Given the description of an element on the screen output the (x, y) to click on. 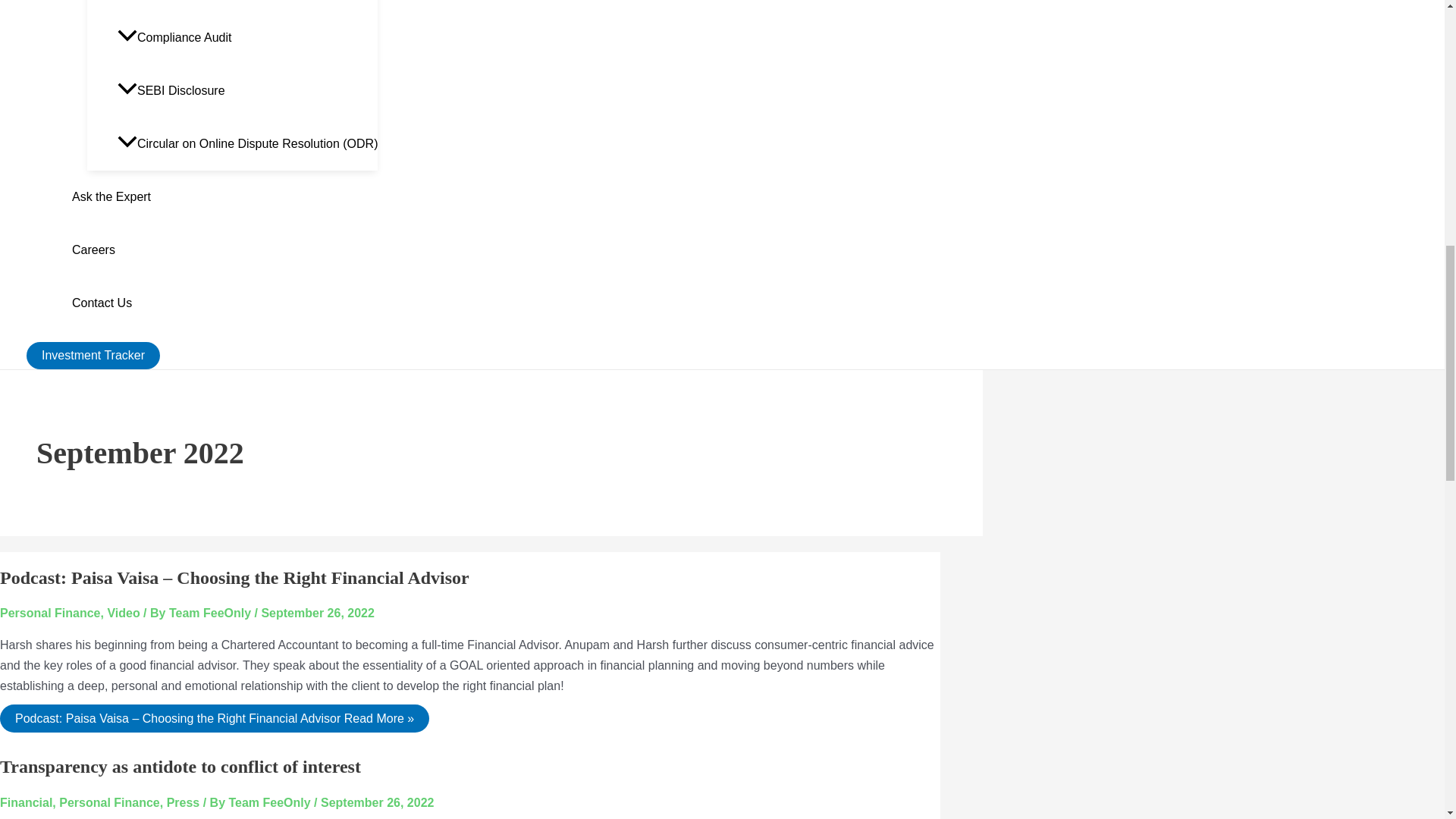
Investment Tracker (93, 355)
Ask the Expert (224, 196)
Careers (224, 249)
SEBI Disclosure (247, 90)
Contact Us (224, 303)
View all posts by Team FeeOnly (271, 802)
Compliance Audit (247, 37)
View all posts by Team FeeOnly (211, 612)
